Given the description of an element on the screen output the (x, y) to click on. 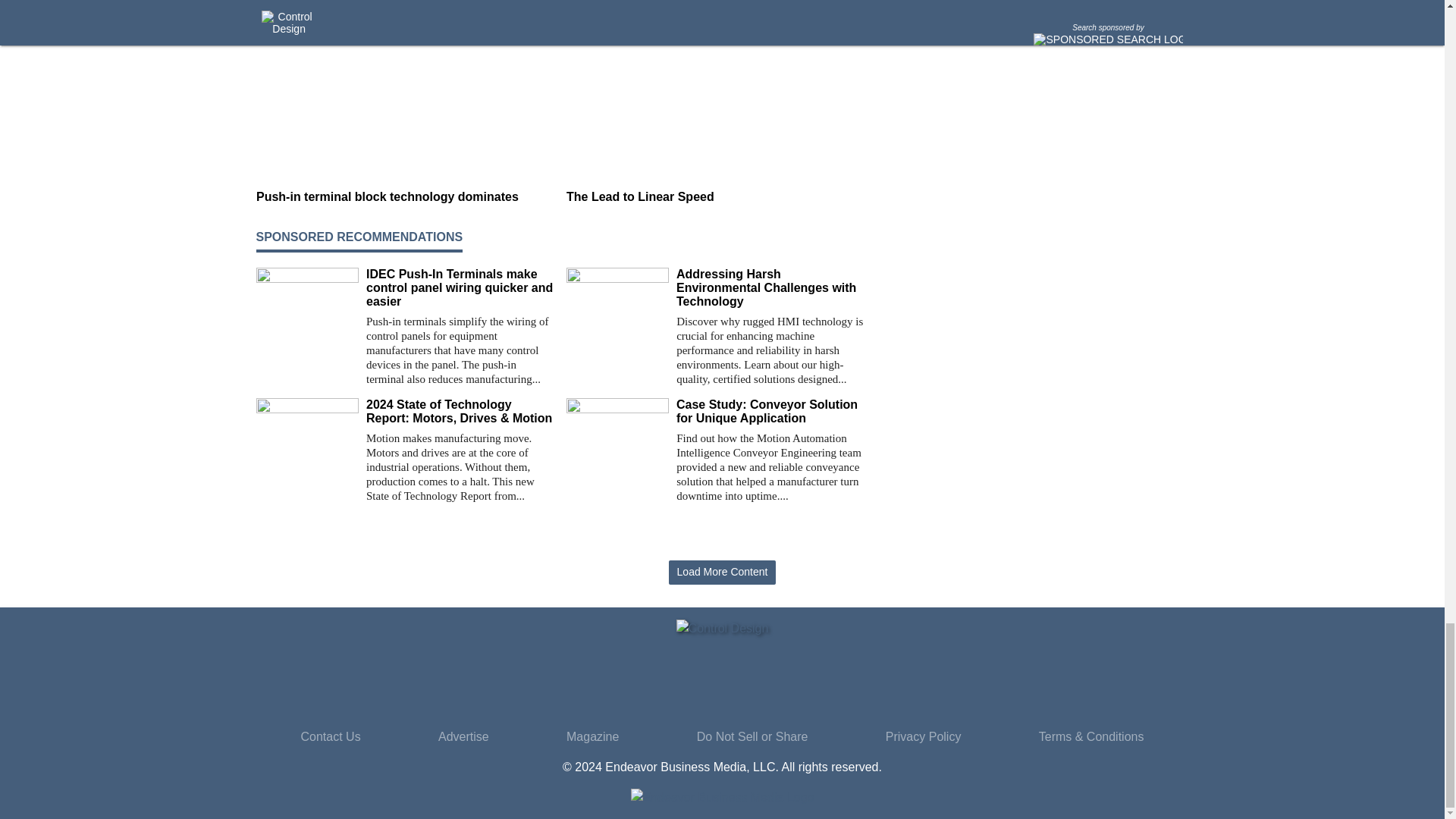
Case Study: Conveyor Solution for Unique Application (770, 411)
Push-in terminal block technology dominates (405, 197)
The Lead to Linear Speed (715, 197)
Addressing Harsh Environmental Challenges with Technology (770, 287)
